Given the description of an element on the screen output the (x, y) to click on. 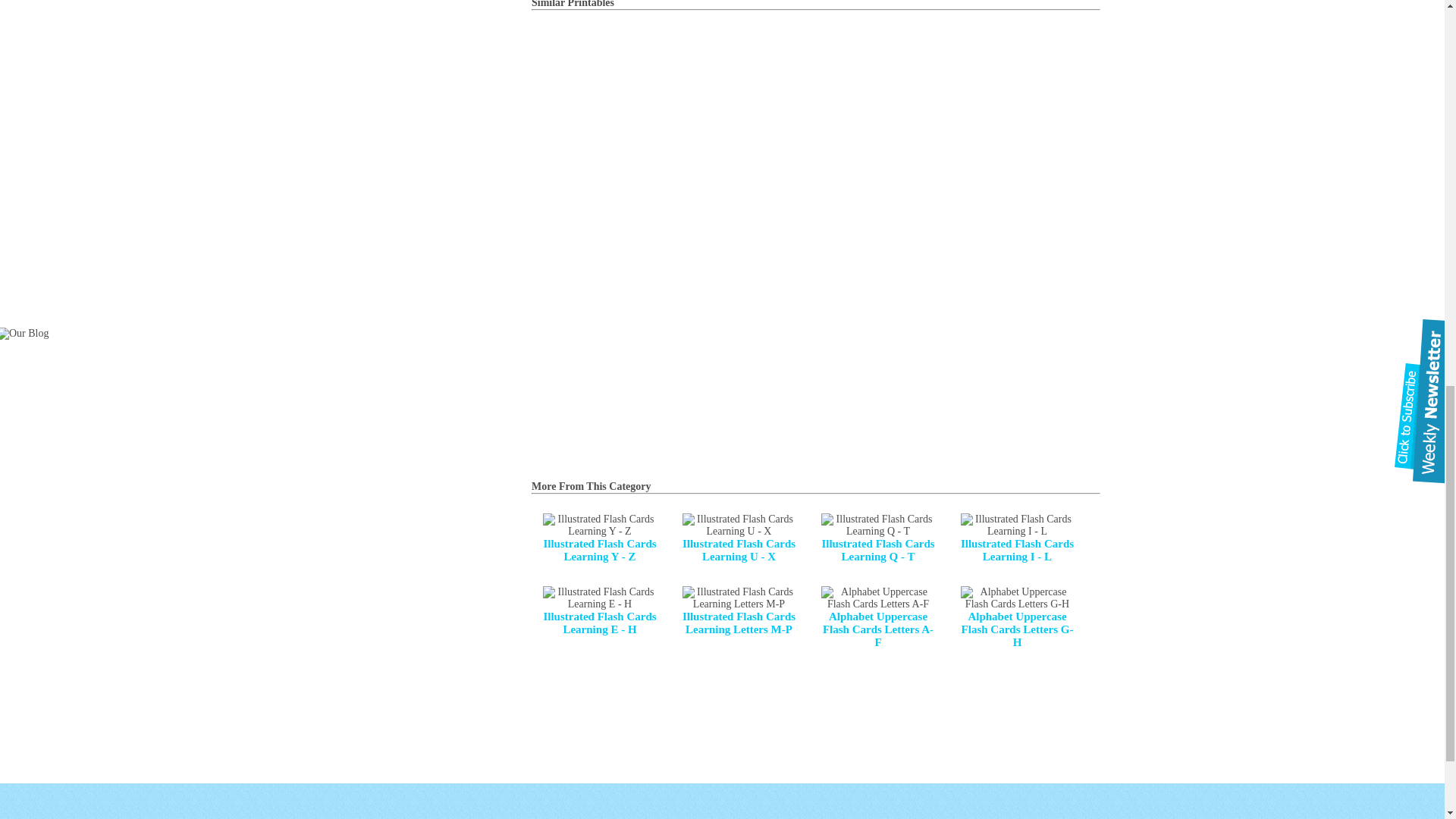
Illustrated Flash Cards Learning U - X (739, 538)
Illustrated Flash Cards Learning Y - Z (599, 538)
Alphabet Uppercase Flash Cards Letters G-H (1016, 617)
Illustrated Flash Cards Learning I - L (1016, 538)
Illustrated Flash Cards Learning Letters M-P (739, 611)
Alphabet Uppercase Flash Cards Letters A-F (877, 617)
Illustrated Flash Cards Learning Q - T (877, 538)
Illustrated Flash Cards Learning E - H (599, 611)
